Given the description of an element on the screen output the (x, y) to click on. 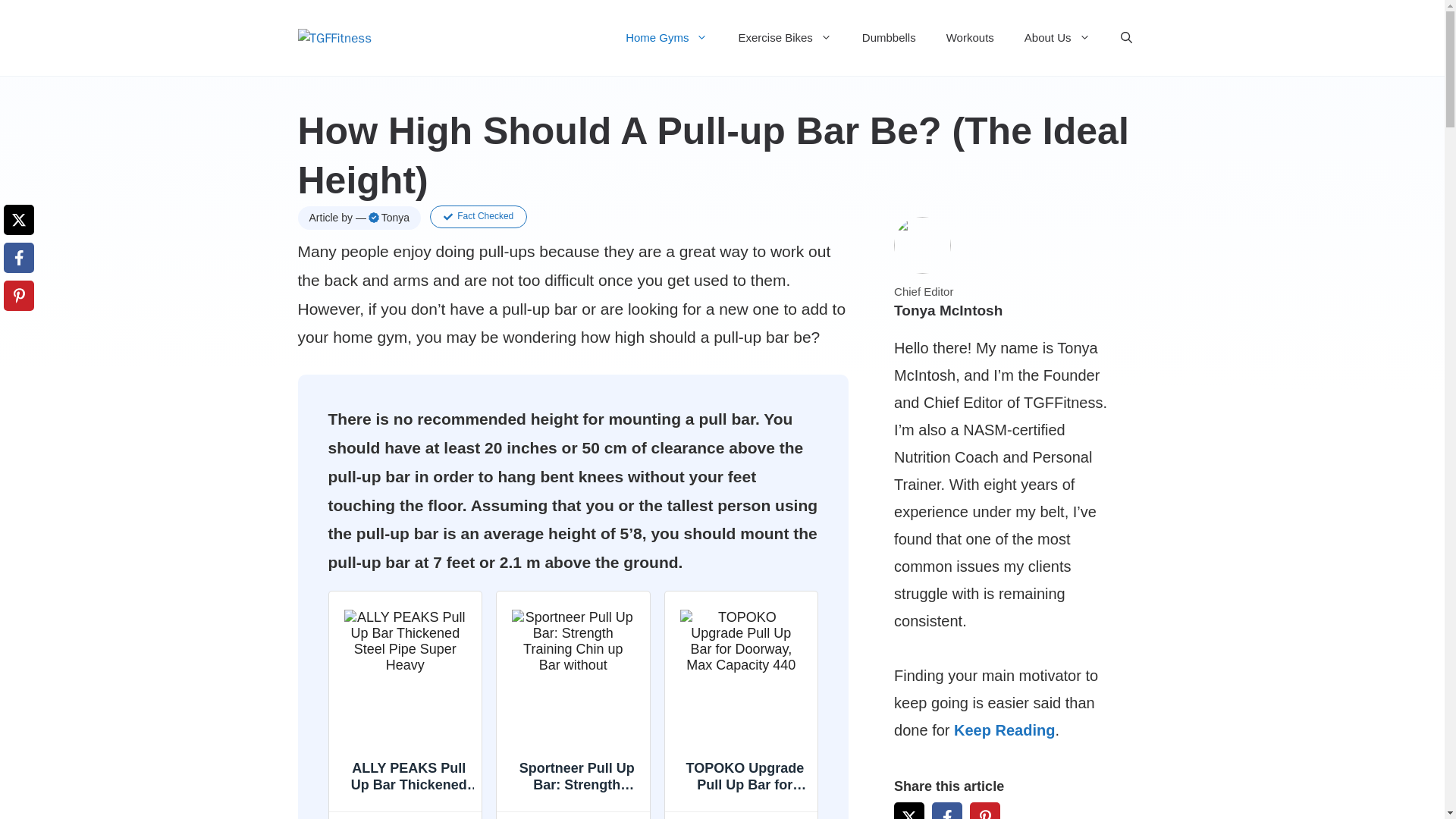
Dumbbells (889, 37)
Home Gyms (666, 37)
Workouts (970, 37)
Exercise Bikes (783, 37)
About Us (1057, 37)
